Given the description of an element on the screen output the (x, y) to click on. 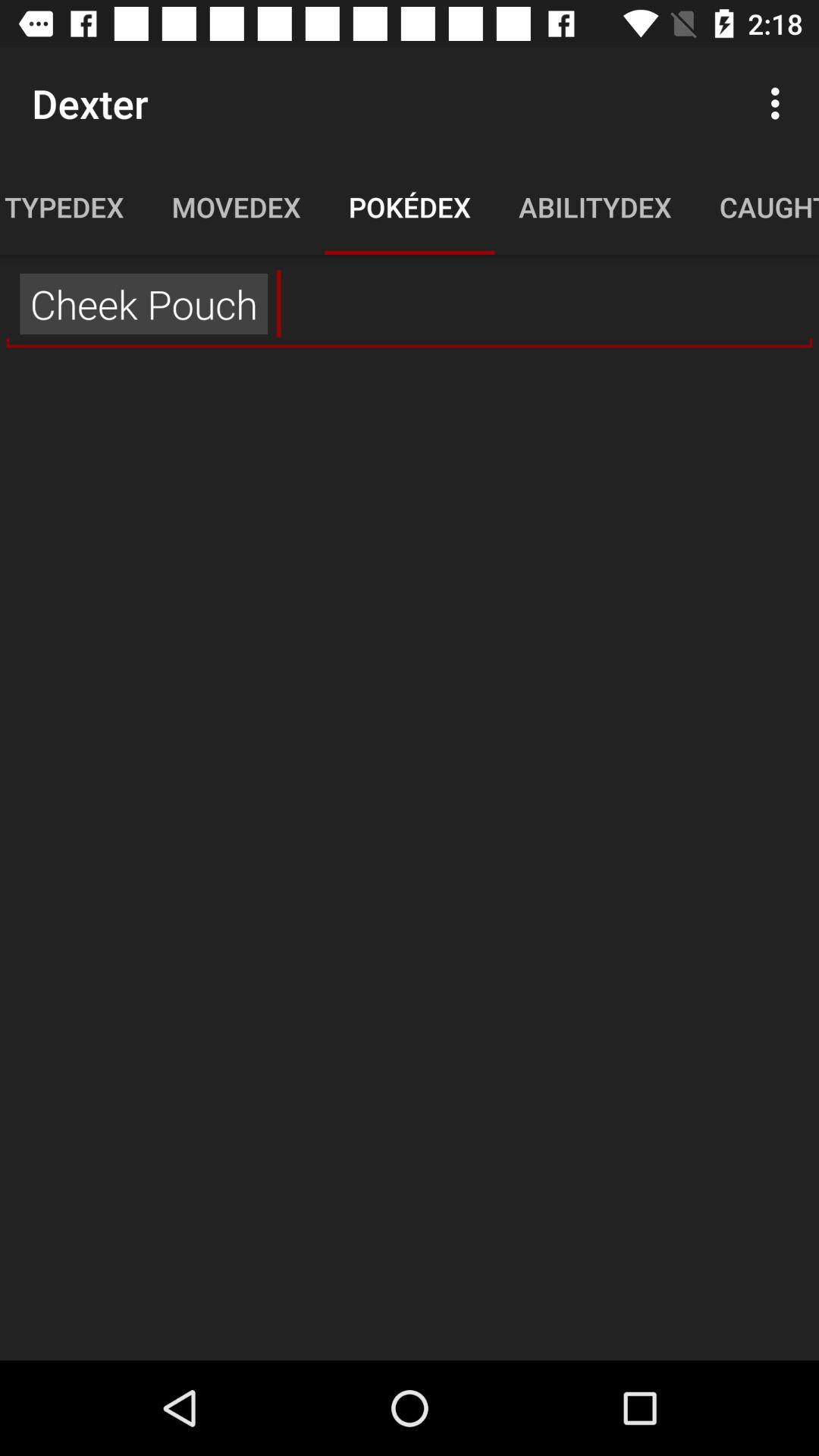
open item below typedex icon (409, 304)
